Given the description of an element on the screen output the (x, y) to click on. 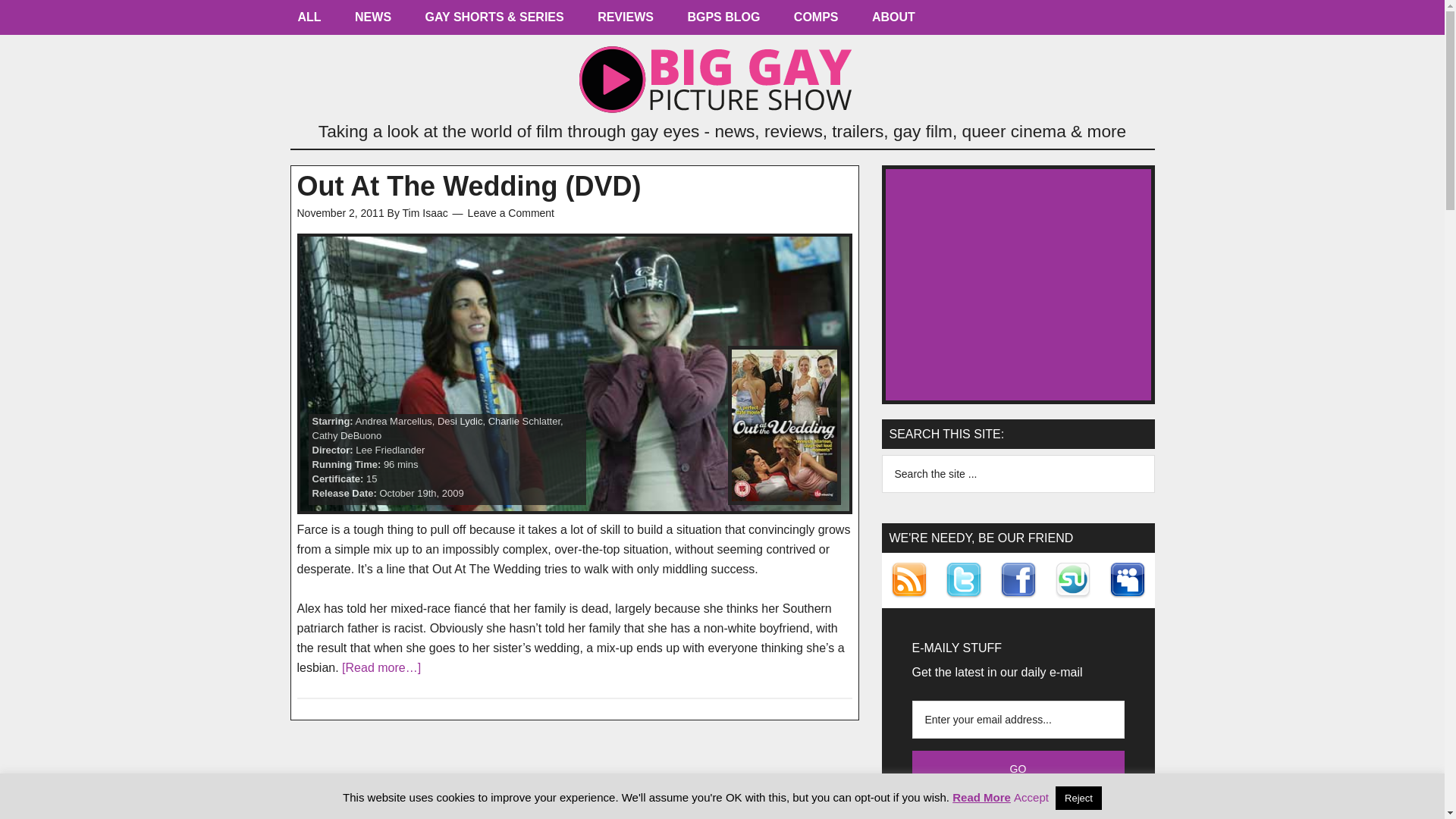
Cathy DeBuono (347, 435)
COMPS (815, 21)
ABOUT (893, 21)
news (372, 21)
2009 (453, 492)
Tim Isaac (425, 213)
15 (371, 478)
everything-bgps (309, 21)
bgps-says (722, 21)
NEWS (372, 21)
Desi Lydic (459, 420)
Go (1017, 769)
ALL (309, 21)
